Given the description of an element on the screen output the (x, y) to click on. 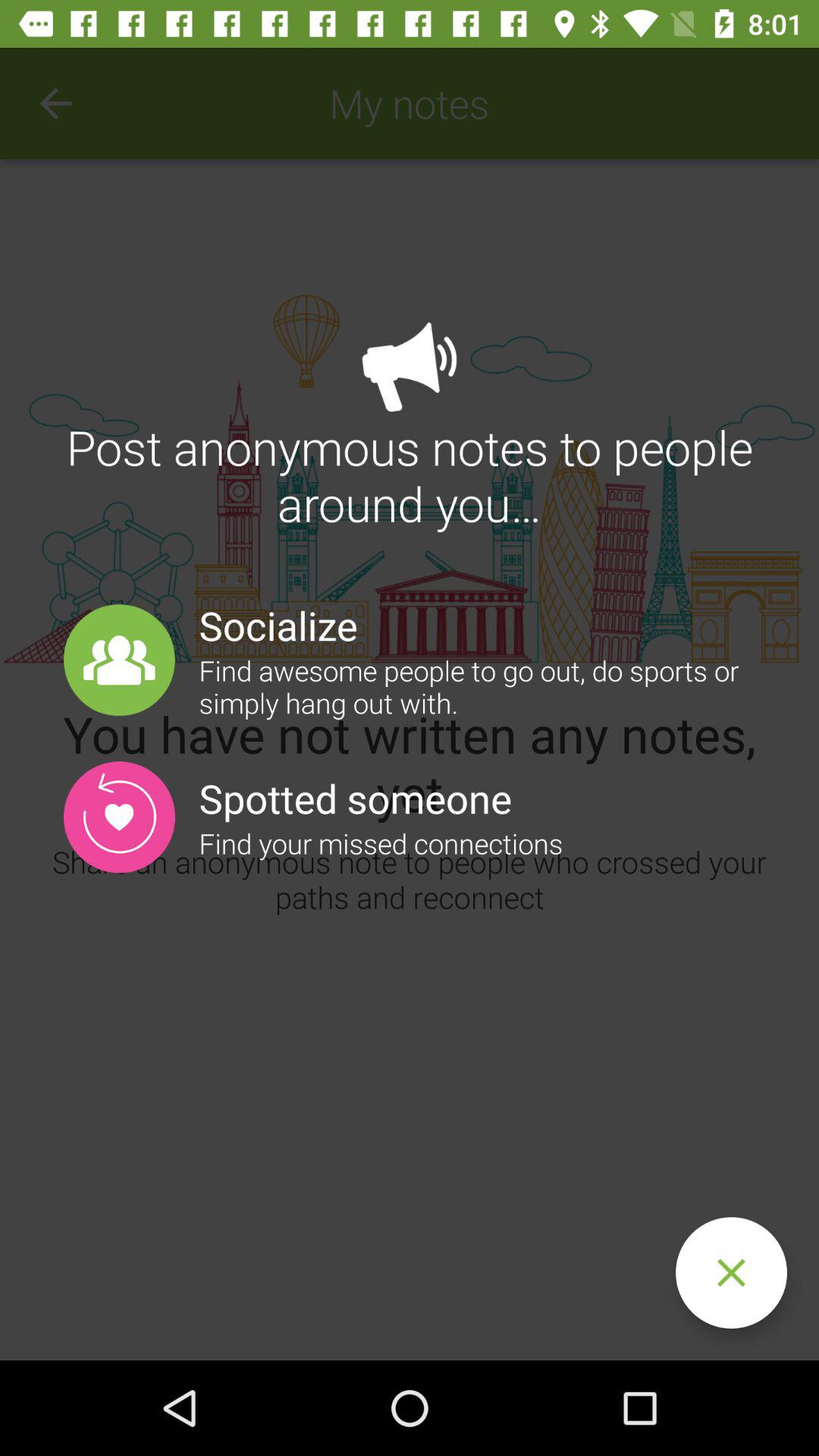
close screen (731, 1272)
